Given the description of an element on the screen output the (x, y) to click on. 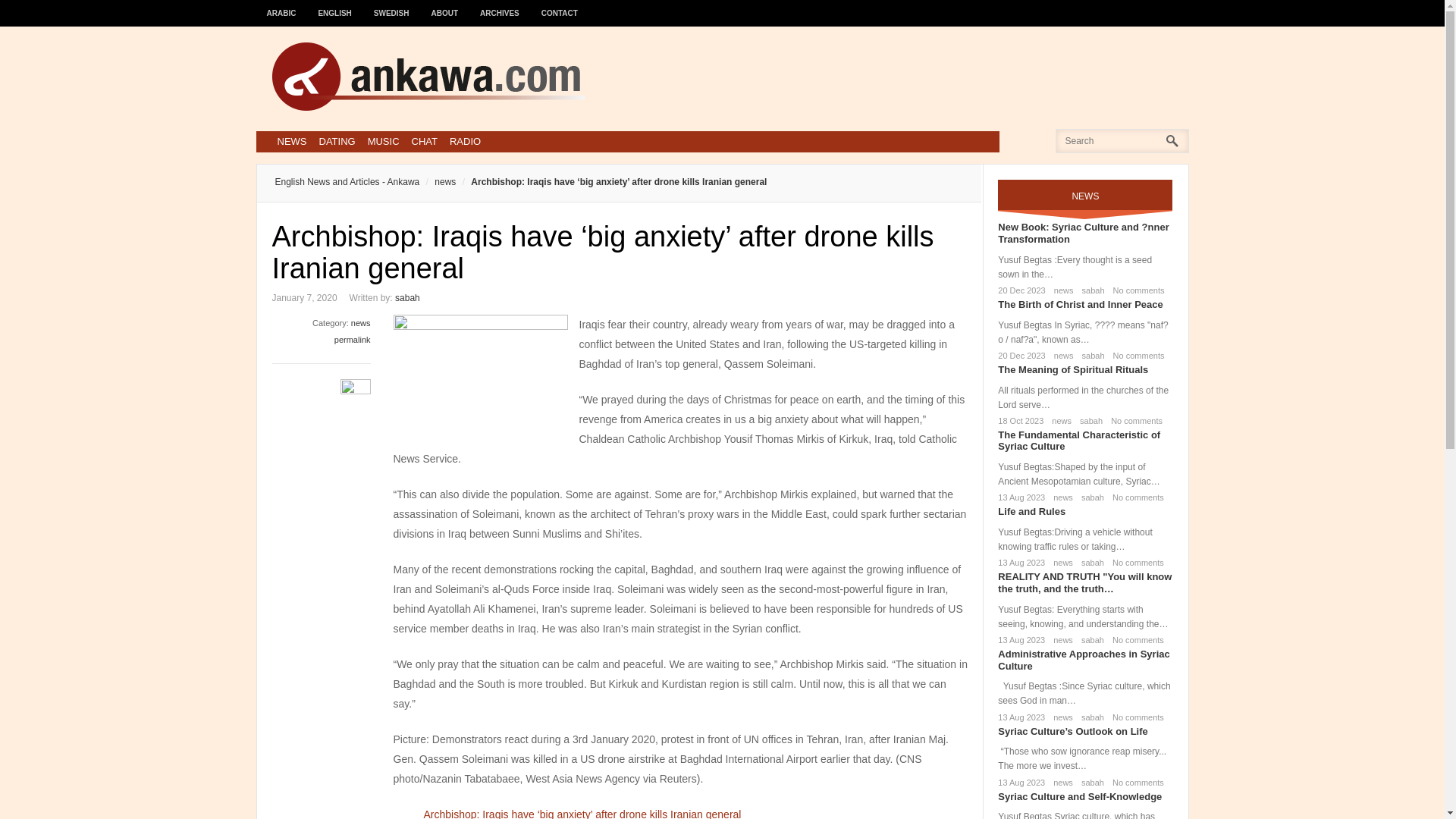
The Fundamental Characteristic of Syriac Culture (1078, 440)
Search (35, 15)
Administrative Approaches in Syriac Culture (1083, 659)
New Book: Syriac Culture and ?nner Transformation (1083, 232)
The Birth of Christ and Inner Peace (1079, 304)
DATING (337, 141)
The Birth of Christ and Inner Peace (1079, 304)
English News and Articles - Ankawa (347, 181)
news (1059, 497)
Life and Rules (1031, 511)
CHAT (425, 141)
sabah (407, 297)
The Meaning of Spiritual Rituals (1072, 369)
Life and Rules (1031, 511)
news (1059, 562)
